Given the description of an element on the screen output the (x, y) to click on. 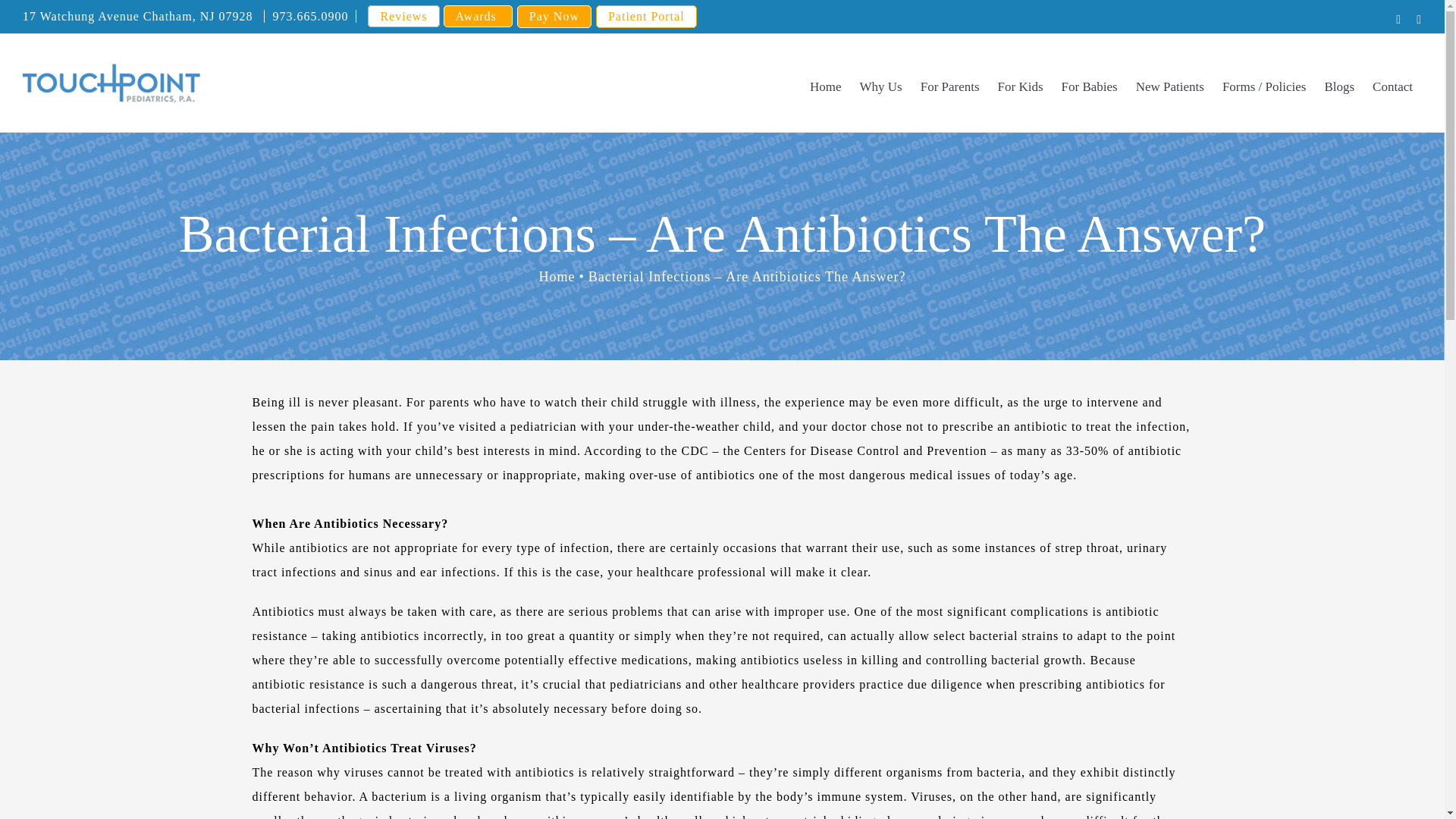
Why Us (880, 85)
For Parents (949, 85)
Reviews (403, 15)
Patient Portal (646, 15)
Awards (478, 15)
973.665.0900 (309, 15)
Pay Now (553, 15)
